Given the description of an element on the screen output the (x, y) to click on. 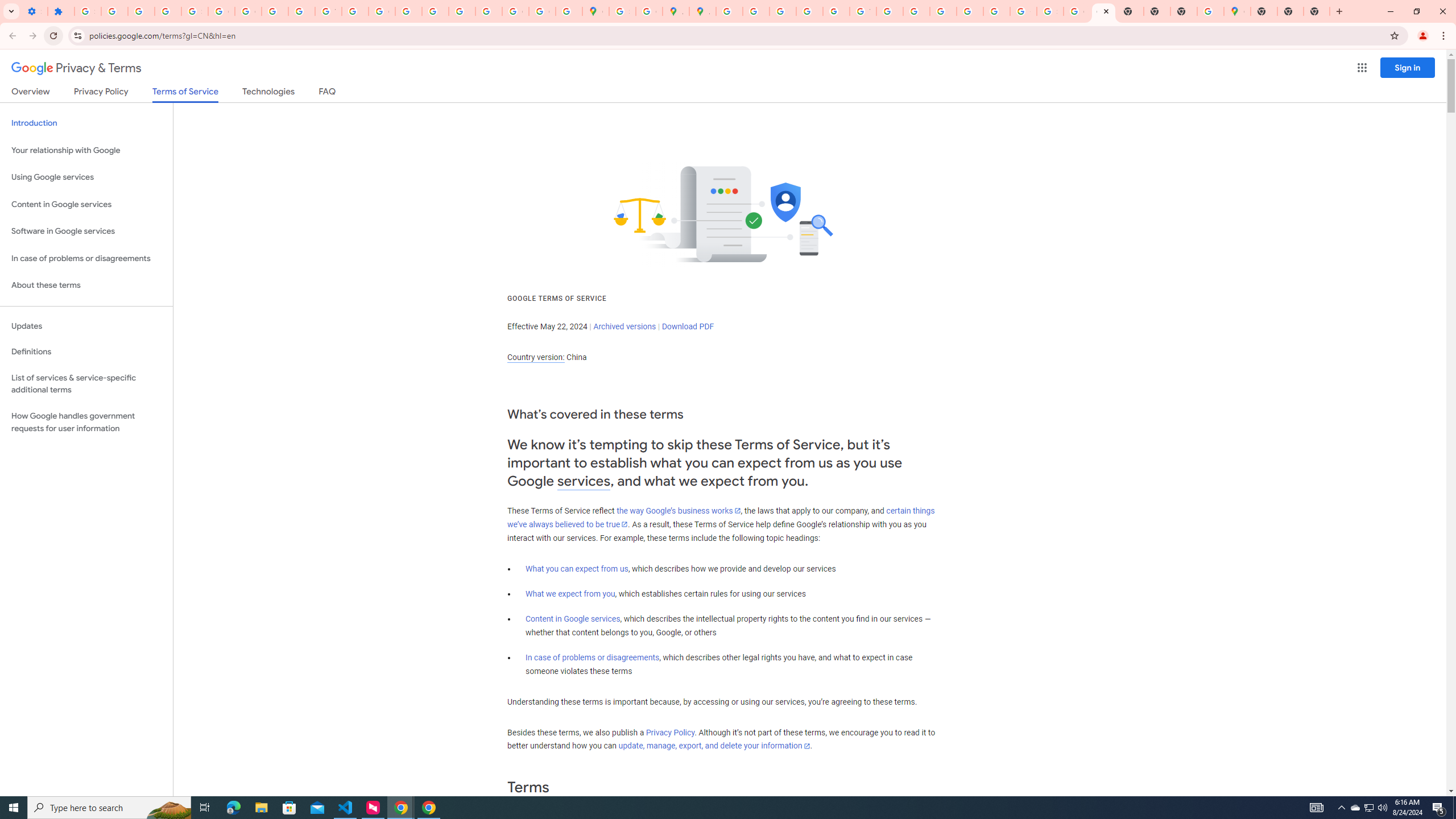
services (583, 480)
New Tab (1263, 11)
Using Google services (86, 176)
What you can expect from us (576, 568)
